Given the description of an element on the screen output the (x, y) to click on. 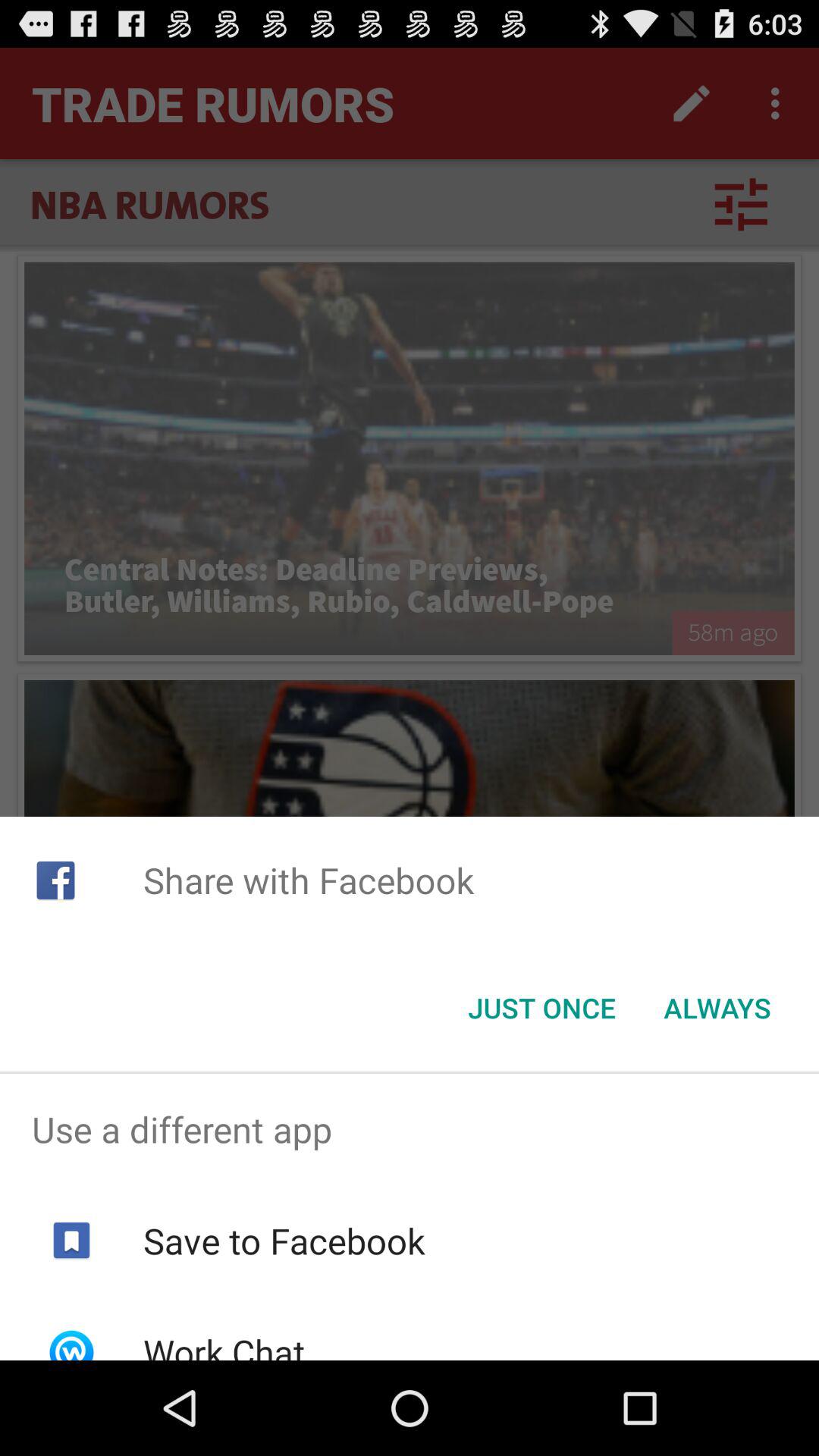
choose the app below share with facebook app (541, 1007)
